Given the description of an element on the screen output the (x, y) to click on. 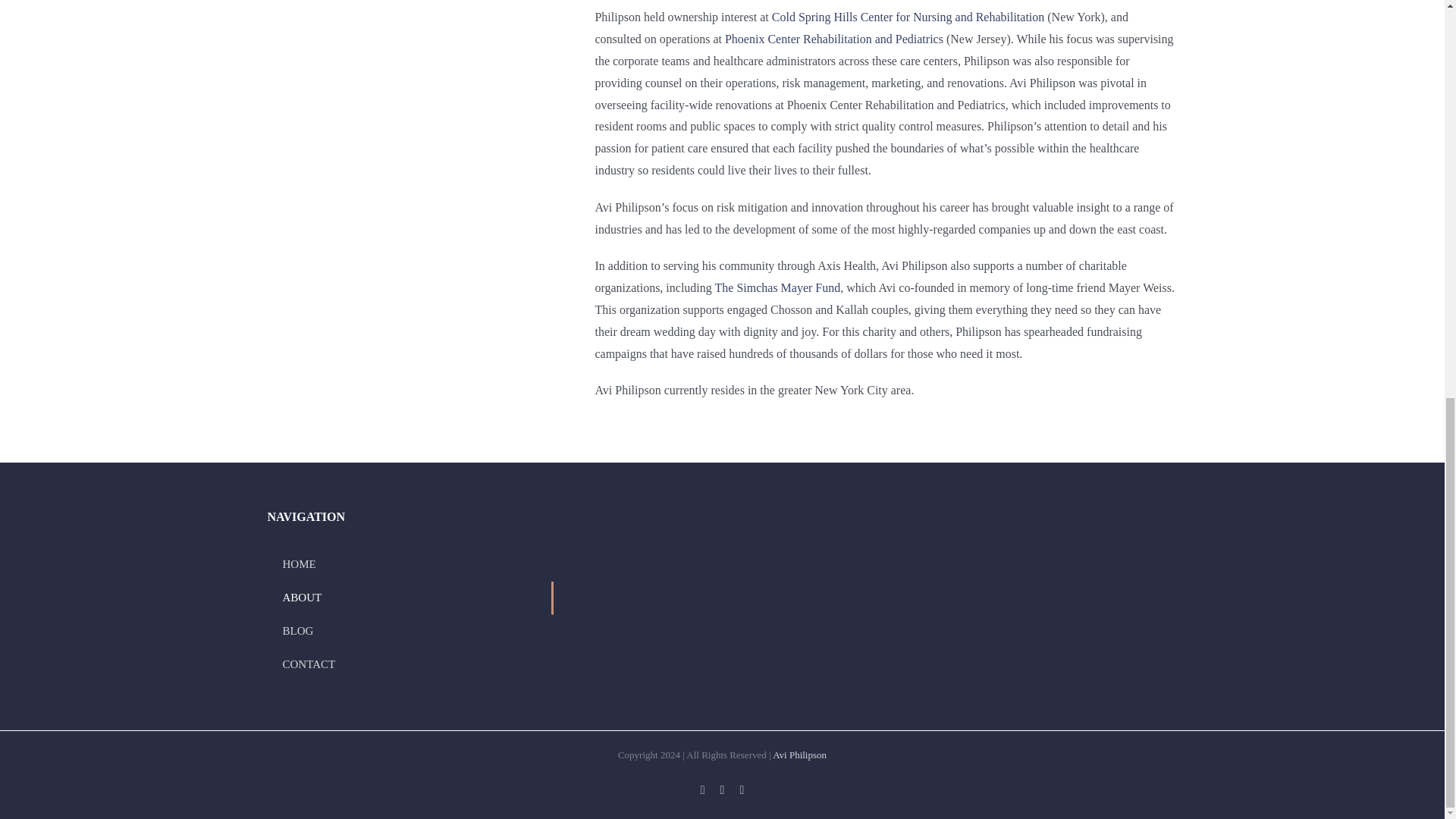
CONTACT (409, 664)
The Simchas Mayer Fund (777, 287)
ABOUT (409, 598)
Phoenix Center Rehabilitation and Pediatrics (834, 38)
Cold Spring Hills Center for Nursing and Rehabilitation (908, 16)
HOME (409, 564)
Avi Philipson (800, 754)
BLOG (409, 631)
